Given the description of an element on the screen output the (x, y) to click on. 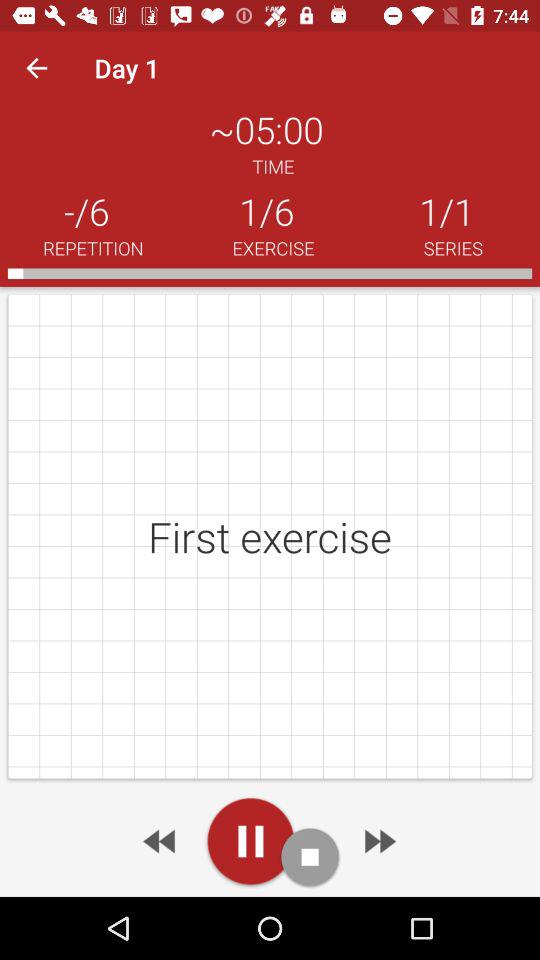
it is a hyperlink to move forward (378, 841)
